Given the description of an element on the screen output the (x, y) to click on. 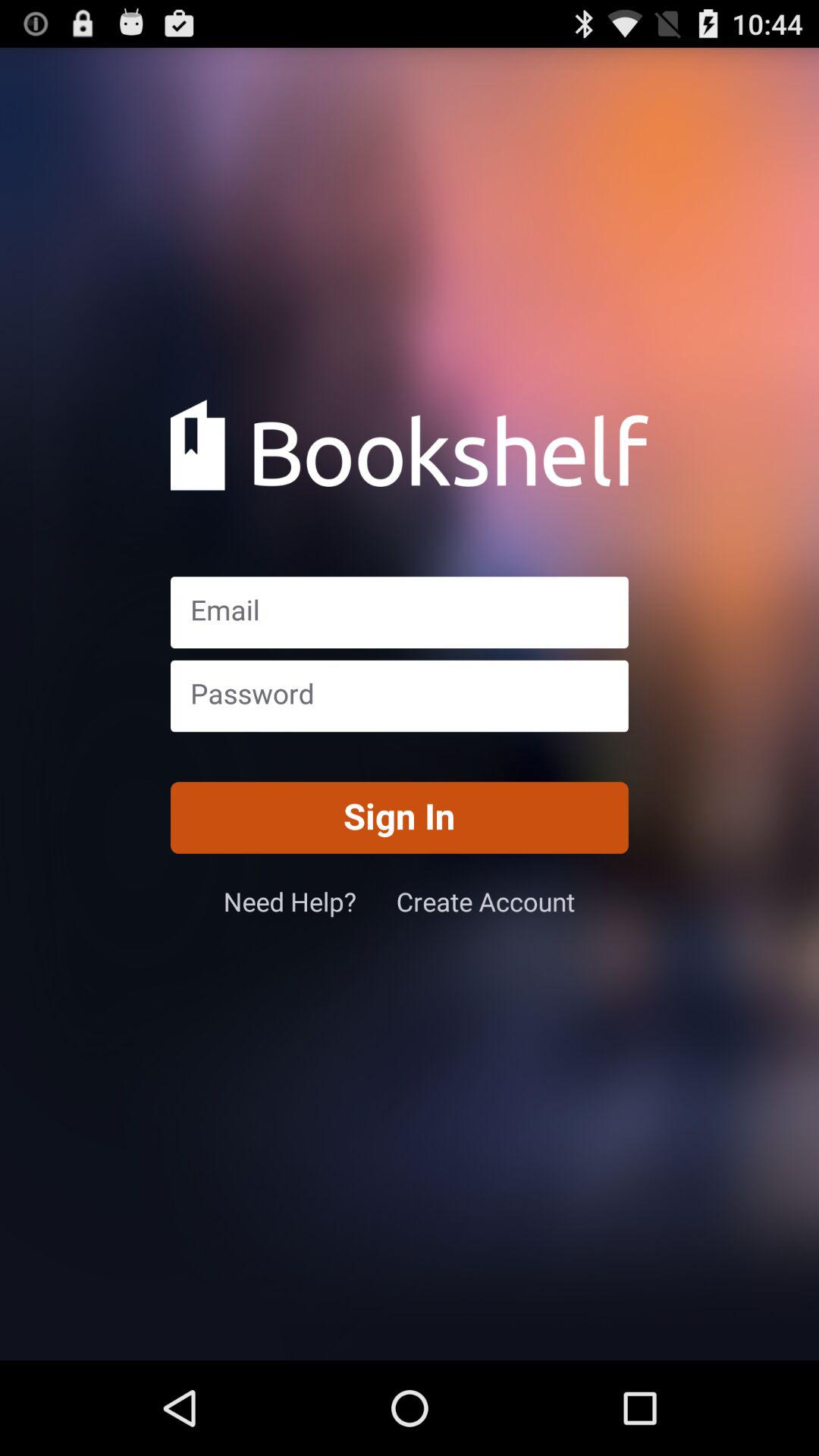
select the item next to create account button (309, 901)
